Given the description of an element on the screen output the (x, y) to click on. 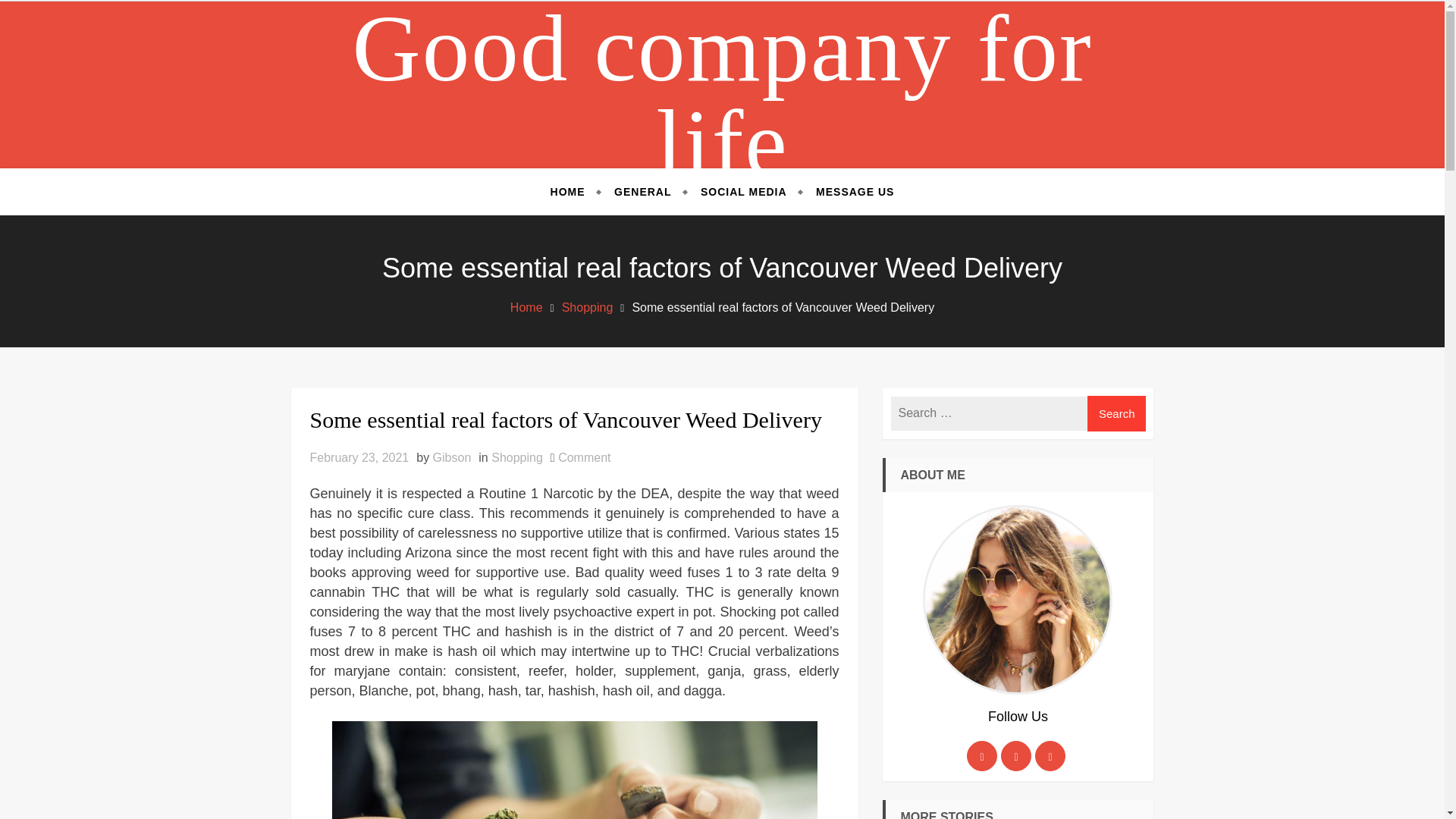
February 23, 2021 (358, 457)
Some essential real factors of Vancouver Weed Delivery (573, 419)
Home (527, 307)
Shopping (587, 307)
Shopping (517, 457)
GENERAL (642, 191)
SOCIAL MEDIA (743, 191)
Search (1117, 413)
Search (1117, 413)
Gibson (451, 457)
MESSAGE US (848, 191)
HOME (574, 191)
Search (1117, 413)
